Given the description of an element on the screen output the (x, y) to click on. 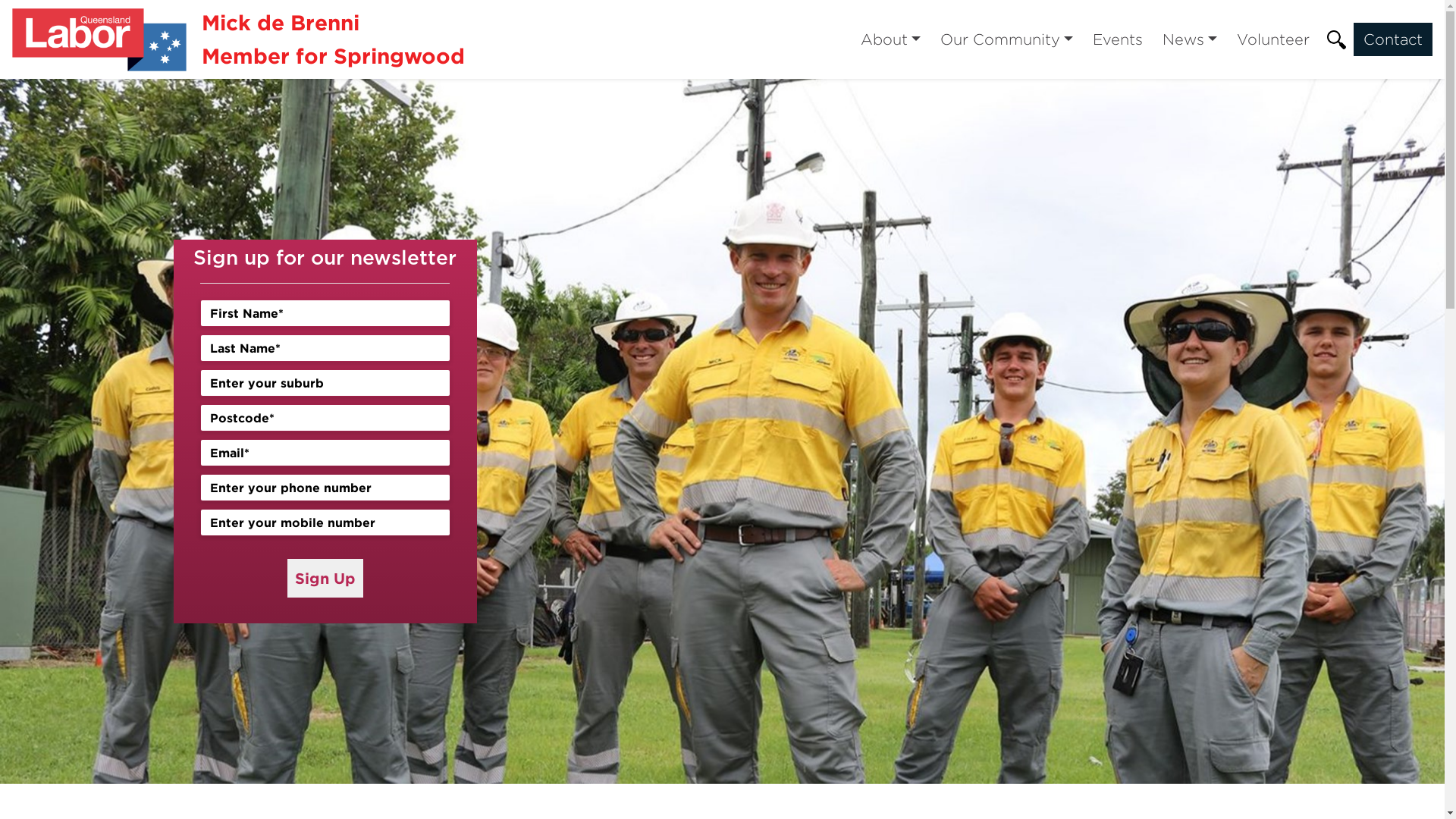
Previous Element type: text (108, 431)
News Element type: text (1189, 39)
Events Element type: text (1117, 39)
Next Element type: text (1335, 431)
Sign Up Element type: text (325, 577)
Contact Element type: text (1392, 39)
Volunteer Element type: text (1272, 39)
Our Community Element type: text (1006, 39)
About Element type: text (890, 39)
